Given the description of an element on the screen output the (x, y) to click on. 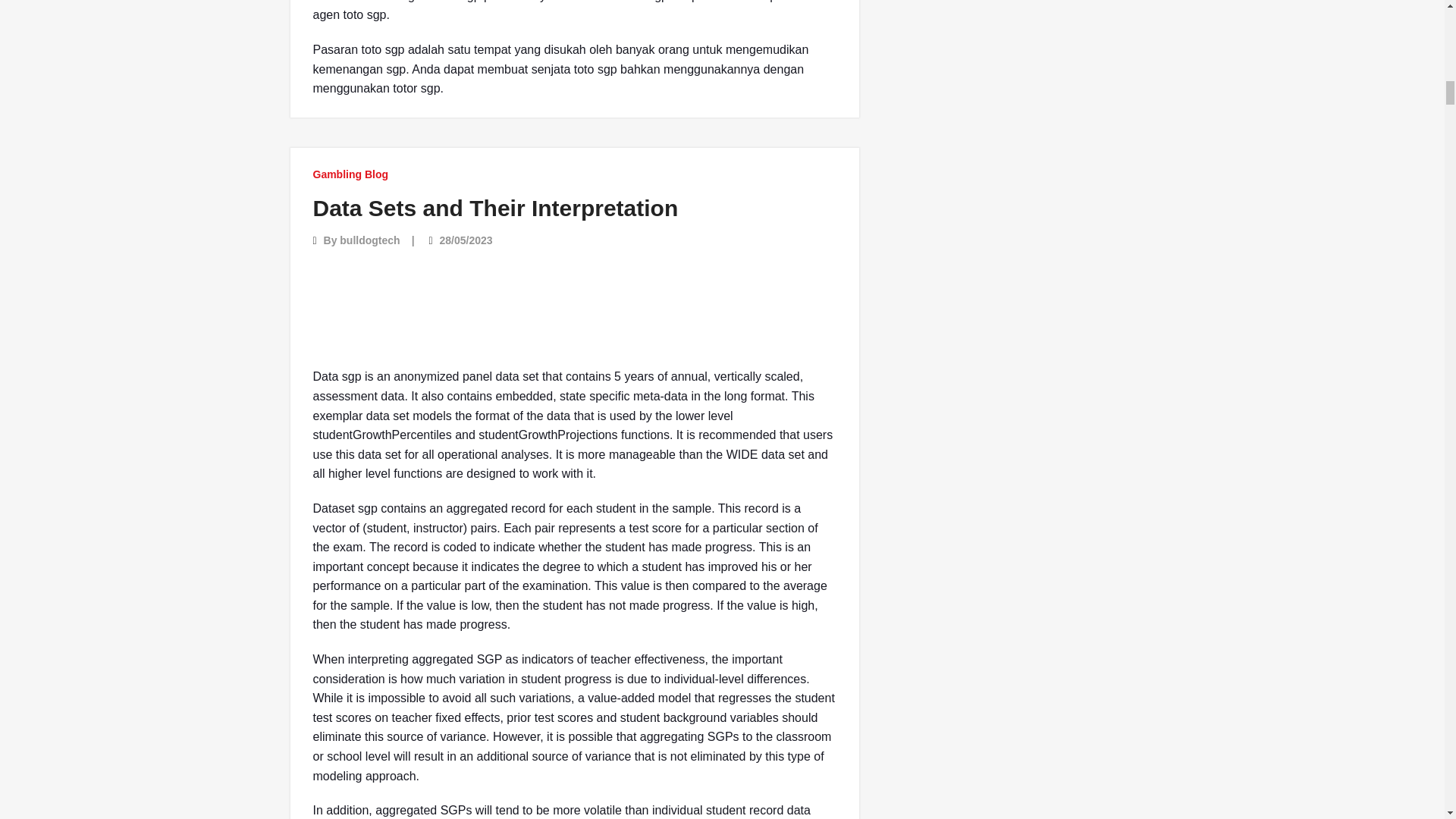
Gambling Blog (350, 174)
bulldogtech (368, 240)
Data Sets and Their Interpretation (495, 207)
